Given the description of an element on the screen output the (x, y) to click on. 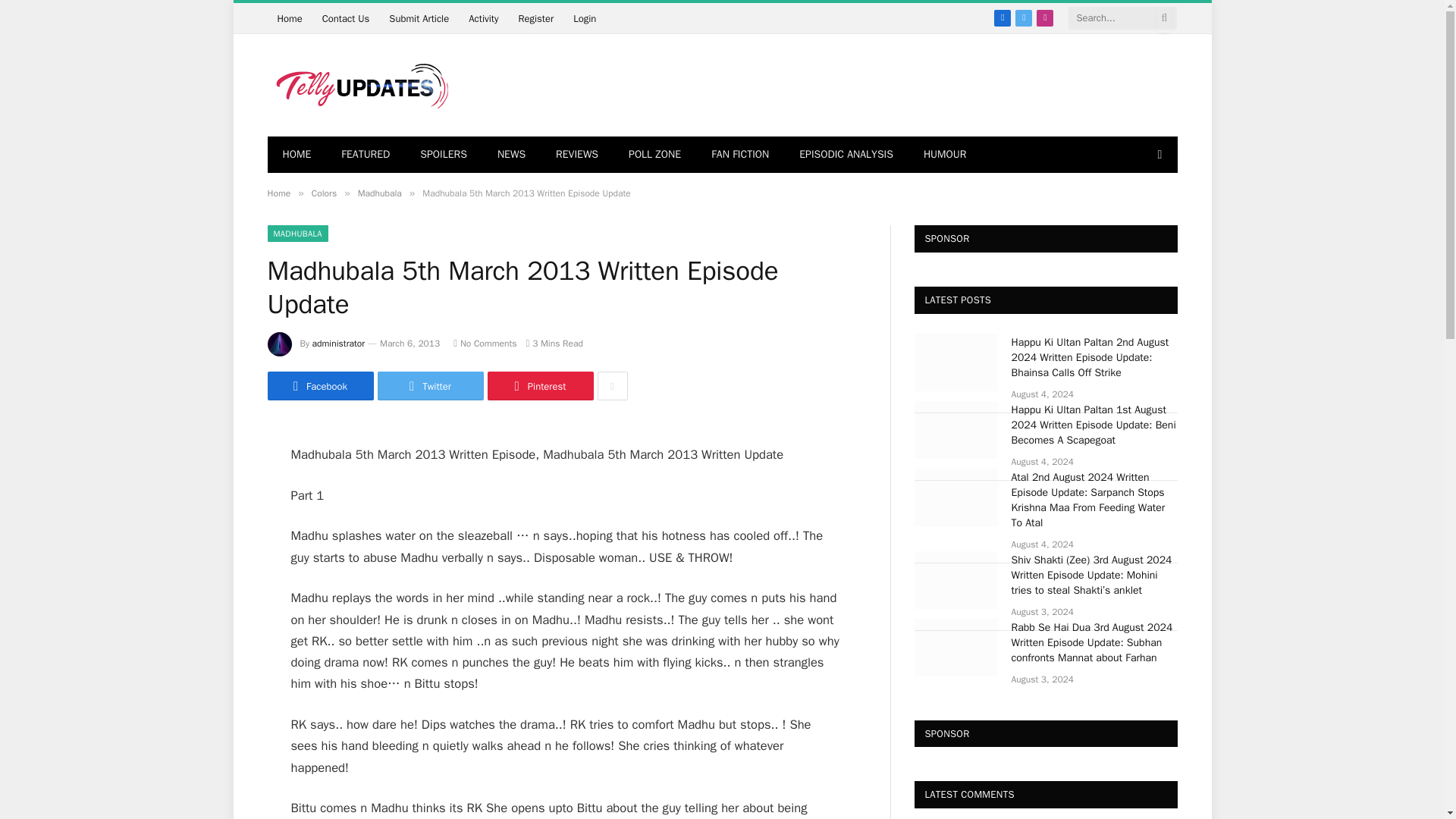
Contact Us (346, 18)
Activity (483, 18)
Register (535, 18)
FAN FICTION (739, 154)
FEATURED (365, 154)
Share on Pinterest (539, 385)
REVIEWS (576, 154)
SPOILERS (442, 154)
Facebook (1002, 17)
POLL ZONE (653, 154)
Switch to Dark Design - easier on eyes. (1158, 154)
EPISODIC ANALYSIS (846, 154)
Share on Facebook (319, 385)
Go To Homepage (288, 18)
HUMOUR (944, 154)
